Given the description of an element on the screen output the (x, y) to click on. 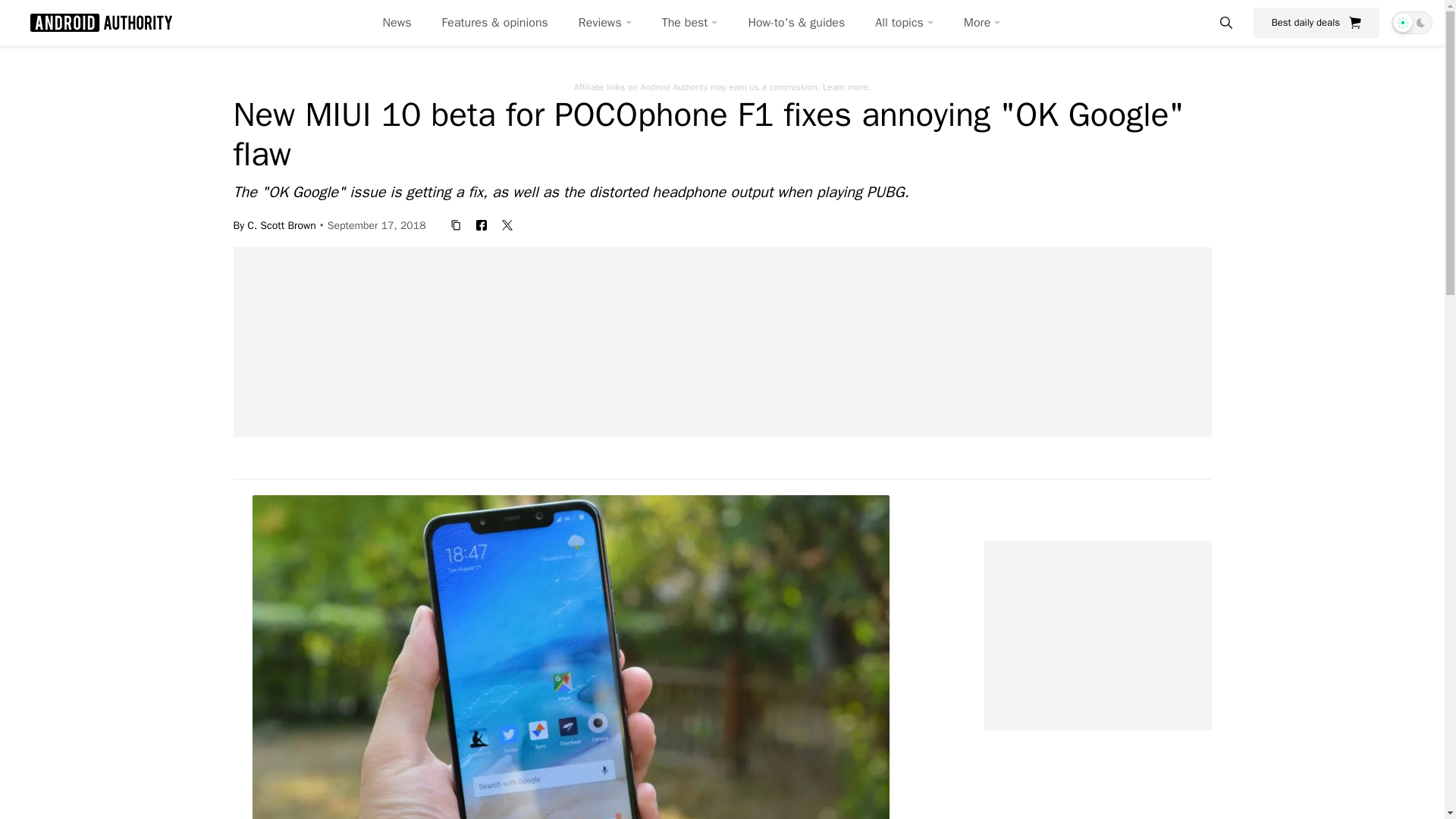
twitter (507, 225)
All topics (904, 22)
The best (689, 22)
Learn more. (846, 86)
Best daily deals (1315, 22)
facebook (481, 225)
Reviews (604, 22)
C. Scott Brown (281, 224)
